Given the description of an element on the screen output the (x, y) to click on. 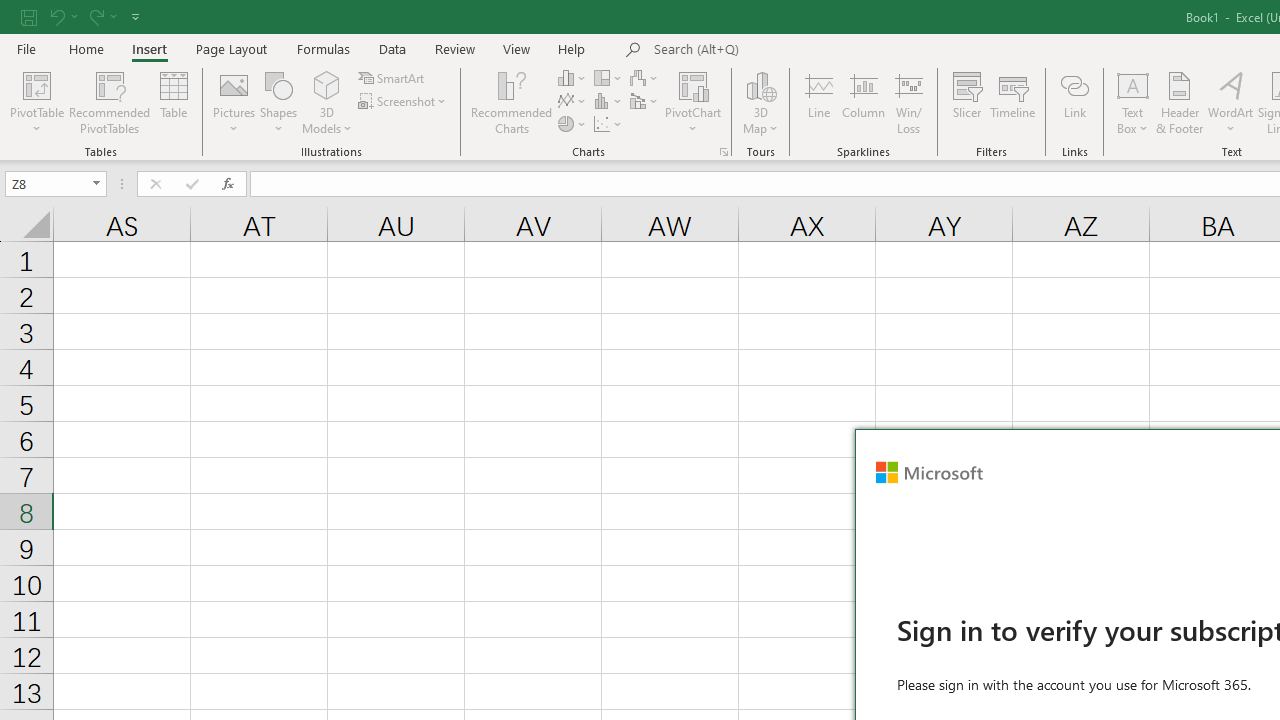
Open (96, 183)
Insert Scatter (X, Y) or Bubble Chart (609, 124)
Screenshot (403, 101)
Link (1074, 102)
Help (572, 48)
Header & Footer... (1179, 102)
Recommended PivotTables (109, 102)
Draw Horizontal Text Box (1133, 84)
Table (173, 102)
3D Models (326, 102)
Home (86, 48)
View (517, 48)
Insert Pie or Doughnut Chart (573, 124)
Text Box (1133, 102)
